Given the description of an element on the screen output the (x, y) to click on. 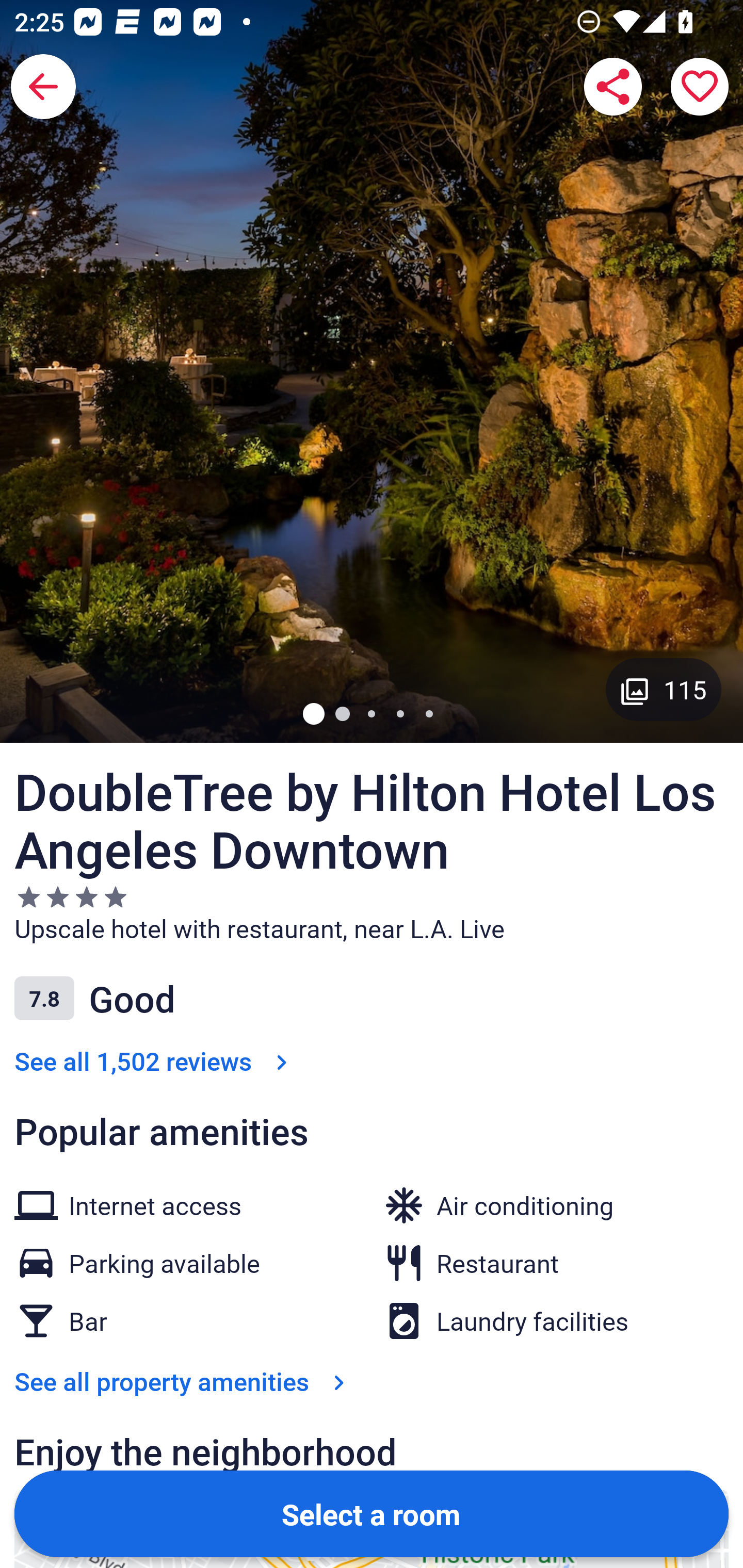
Back (43, 86)
Save property to a trip (699, 86)
Gallery button with 115 images (663, 689)
See all 1,502 reviews See all 1,502 reviews Link (154, 1060)
See all property amenities (183, 1381)
Select a room Button Select a room (371, 1513)
